Given the description of an element on the screen output the (x, y) to click on. 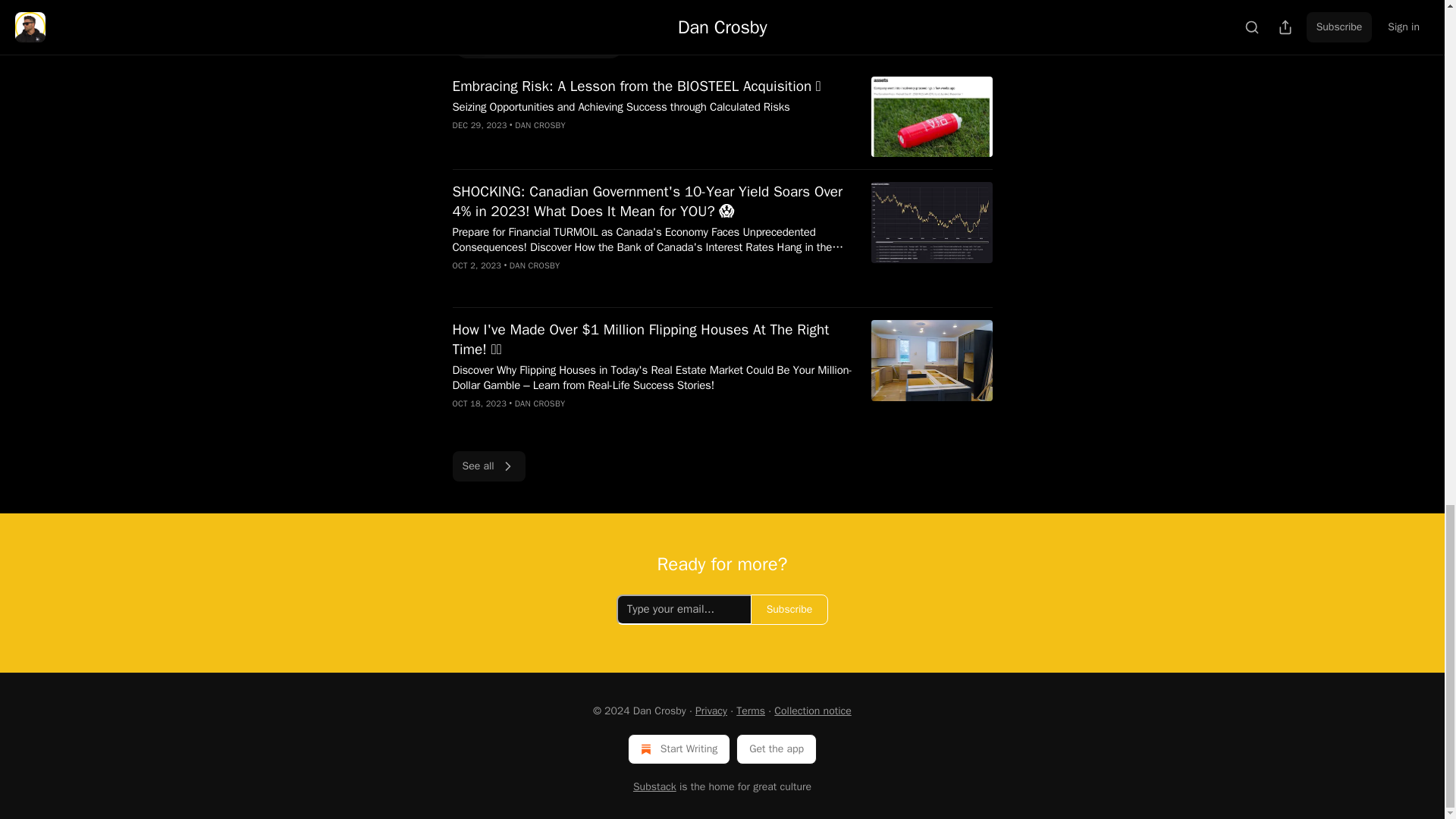
Latest (518, 43)
Top (471, 43)
Discussions (585, 43)
